Given the description of an element on the screen output the (x, y) to click on. 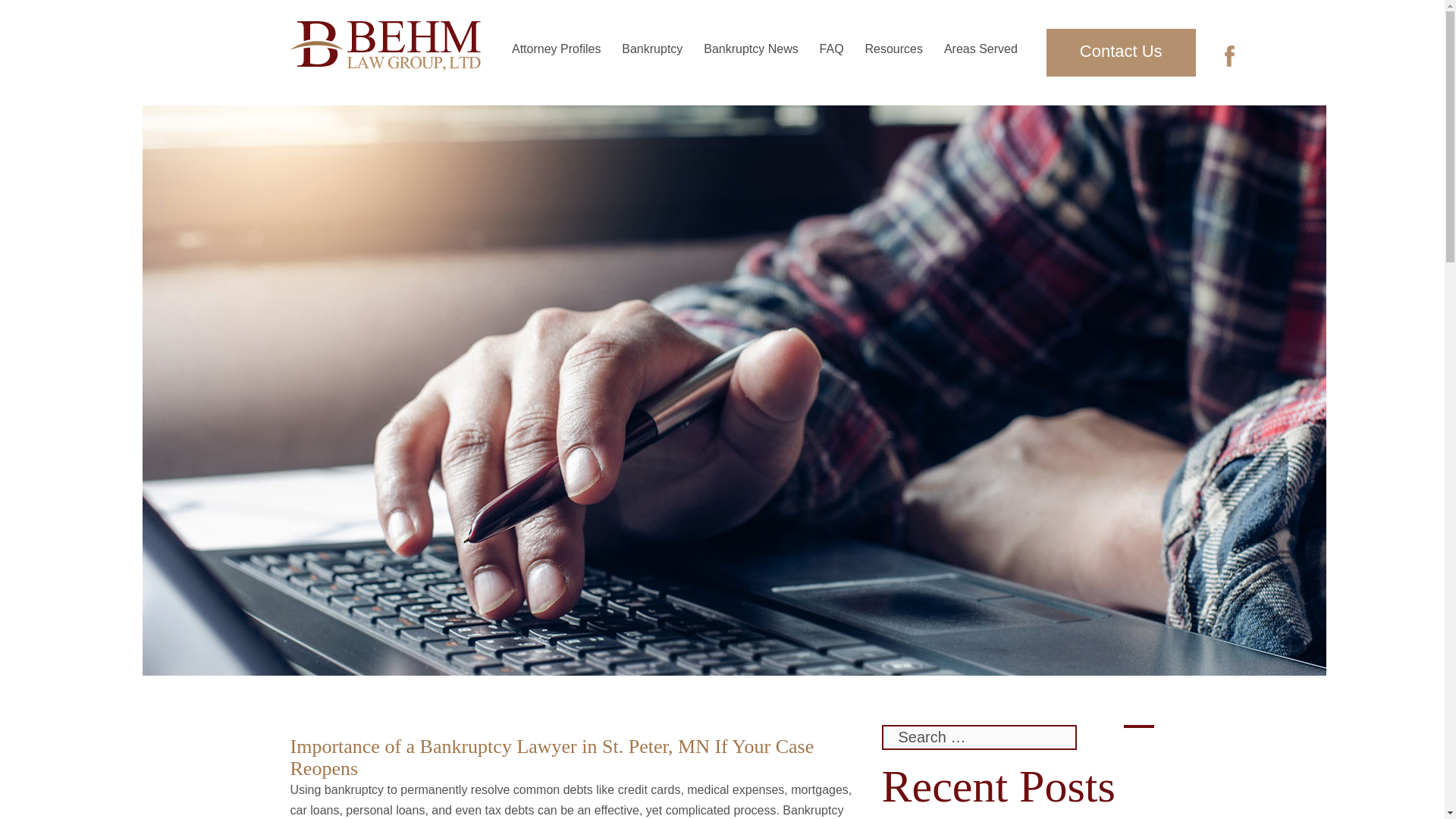
Bankruptcy (651, 48)
FAQ (831, 48)
Resources (893, 48)
Areas Served (980, 48)
Bankruptcy News (750, 48)
Attorney Profiles (555, 48)
Search (1139, 726)
Contact Us (1120, 52)
